Given the description of an element on the screen output the (x, y) to click on. 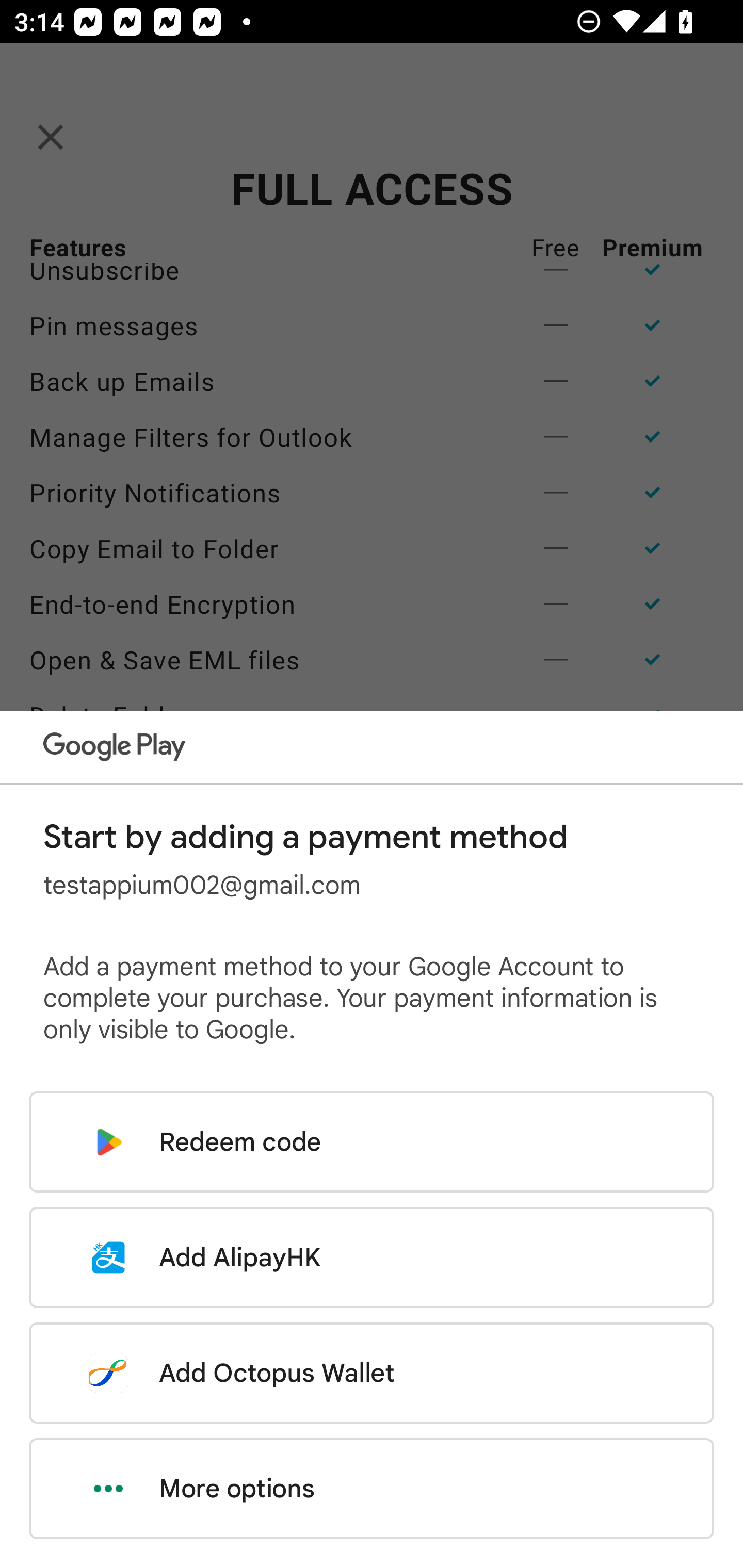
Redeem code (371, 1142)
Add AlipayHK (371, 1257)
Add Octopus Wallet (371, 1372)
More options (371, 1488)
